Given the description of an element on the screen output the (x, y) to click on. 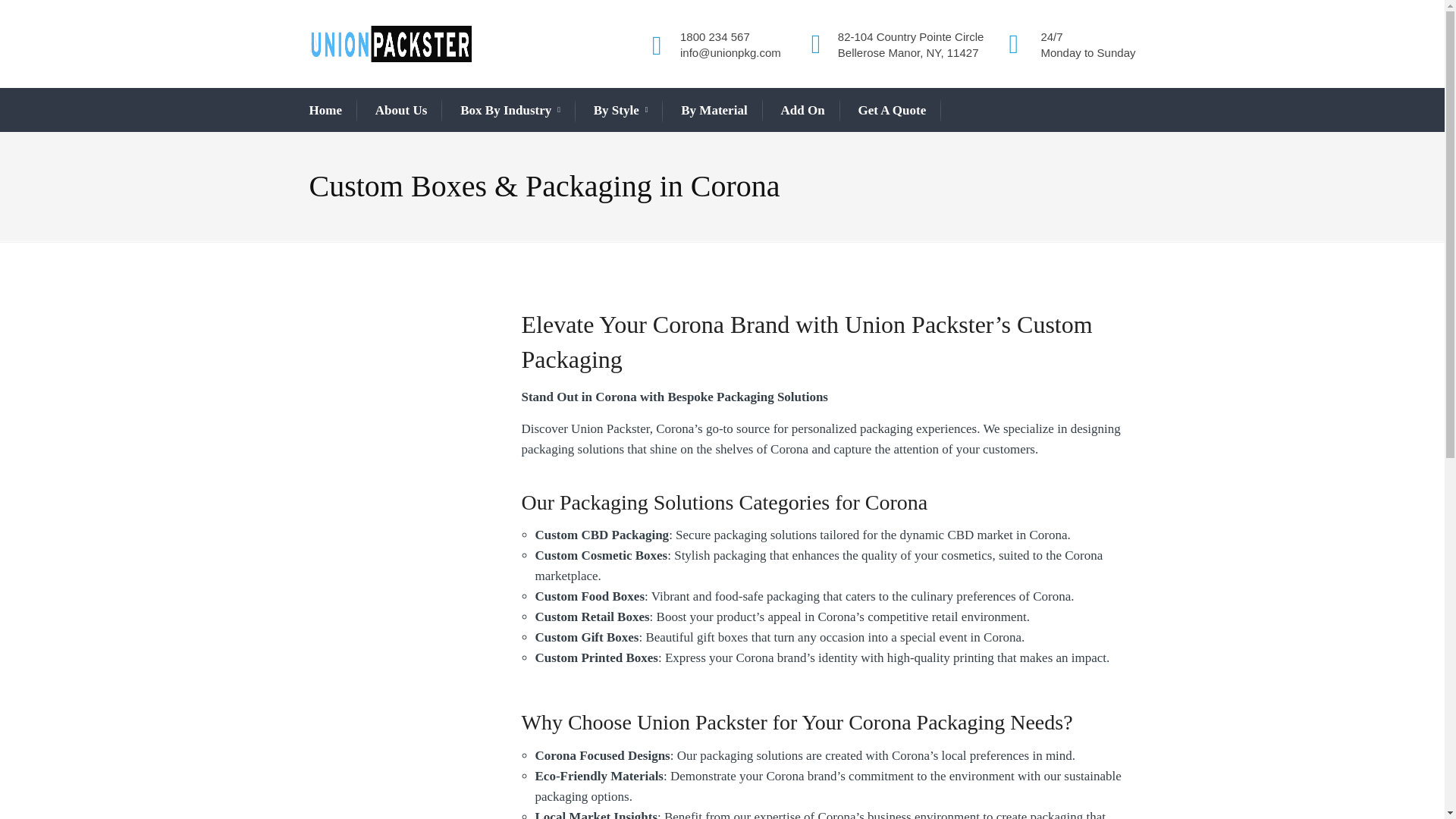
Box By Industry (510, 110)
By Material (713, 109)
Home (325, 109)
Add On (802, 109)
By Style (620, 110)
Get A Quote (892, 109)
About Us (401, 109)
